Given the description of an element on the screen output the (x, y) to click on. 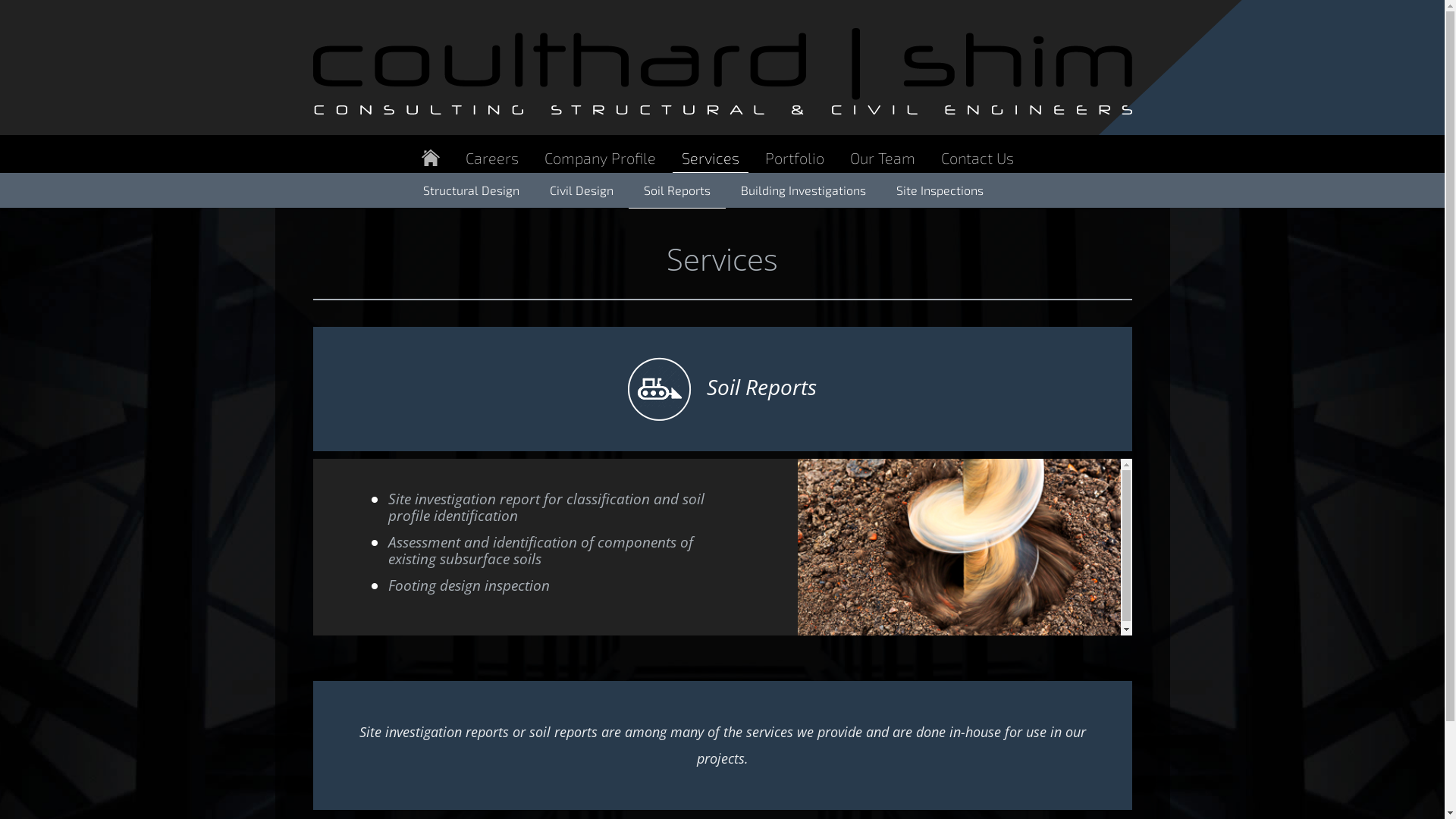
Services Element type: text (709, 158)
Portfolio Element type: text (793, 158)
Building Investigations Element type: text (802, 189)
Soil Reports Element type: text (675, 190)
Careers Element type: text (491, 158)
Contact Us Element type: text (976, 158)
Structural Design Element type: text (470, 189)
Civil Design Element type: text (580, 189)
Site Inspections Element type: text (939, 189)
Company Profile Element type: text (600, 158)
Our Team Element type: text (881, 158)
